Given the description of an element on the screen output the (x, y) to click on. 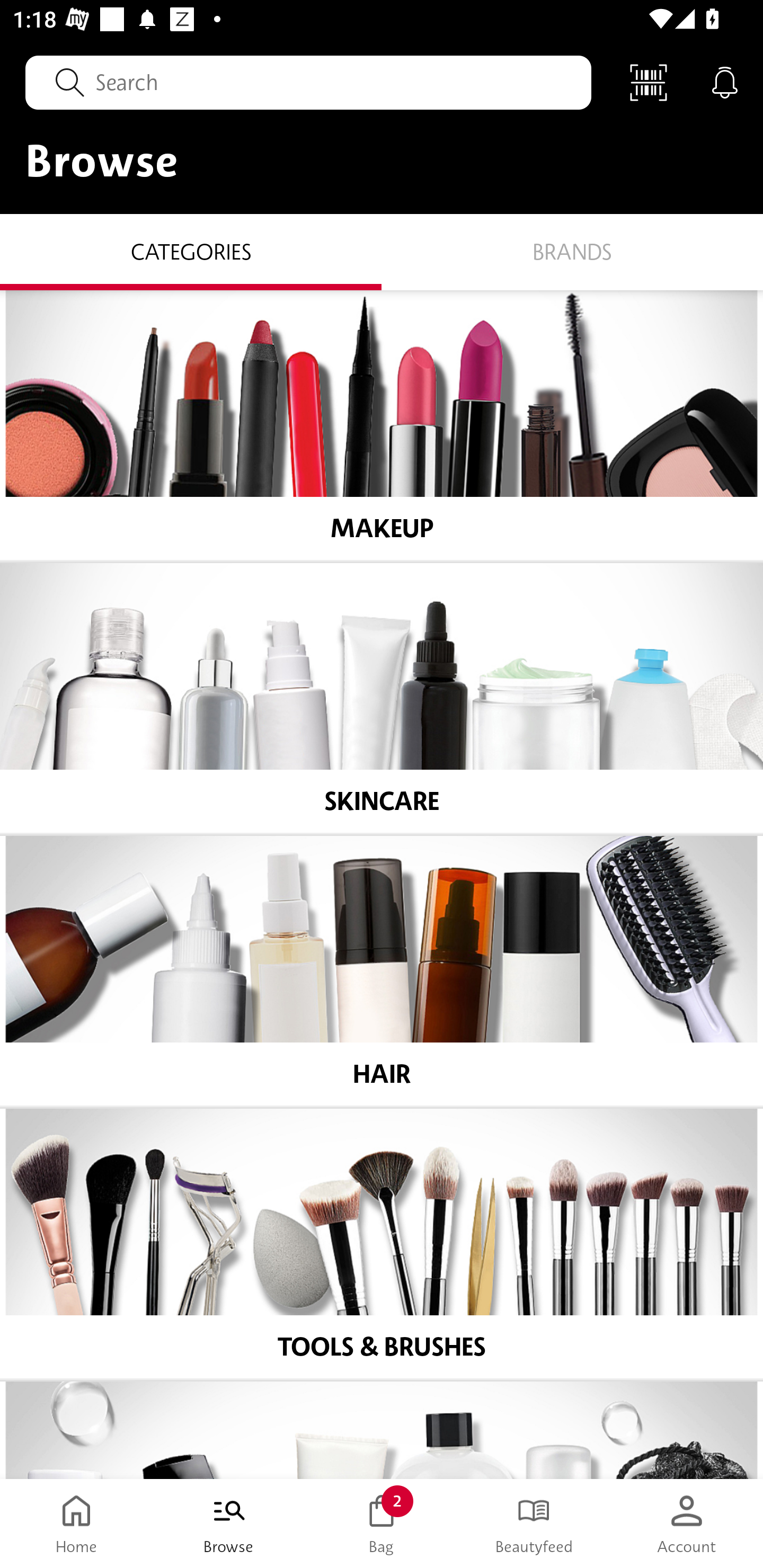
Scan Code (648, 81)
Notifications (724, 81)
Search (308, 81)
Brands BRANDS (572, 251)
MAKEUP (381, 425)
SKINCARE (381, 698)
HAIR (381, 971)
TOOLS & BRUSHES (381, 1243)
Home (76, 1523)
Bag 2 Bag (381, 1523)
Beautyfeed (533, 1523)
Account (686, 1523)
